Given the description of an element on the screen output the (x, y) to click on. 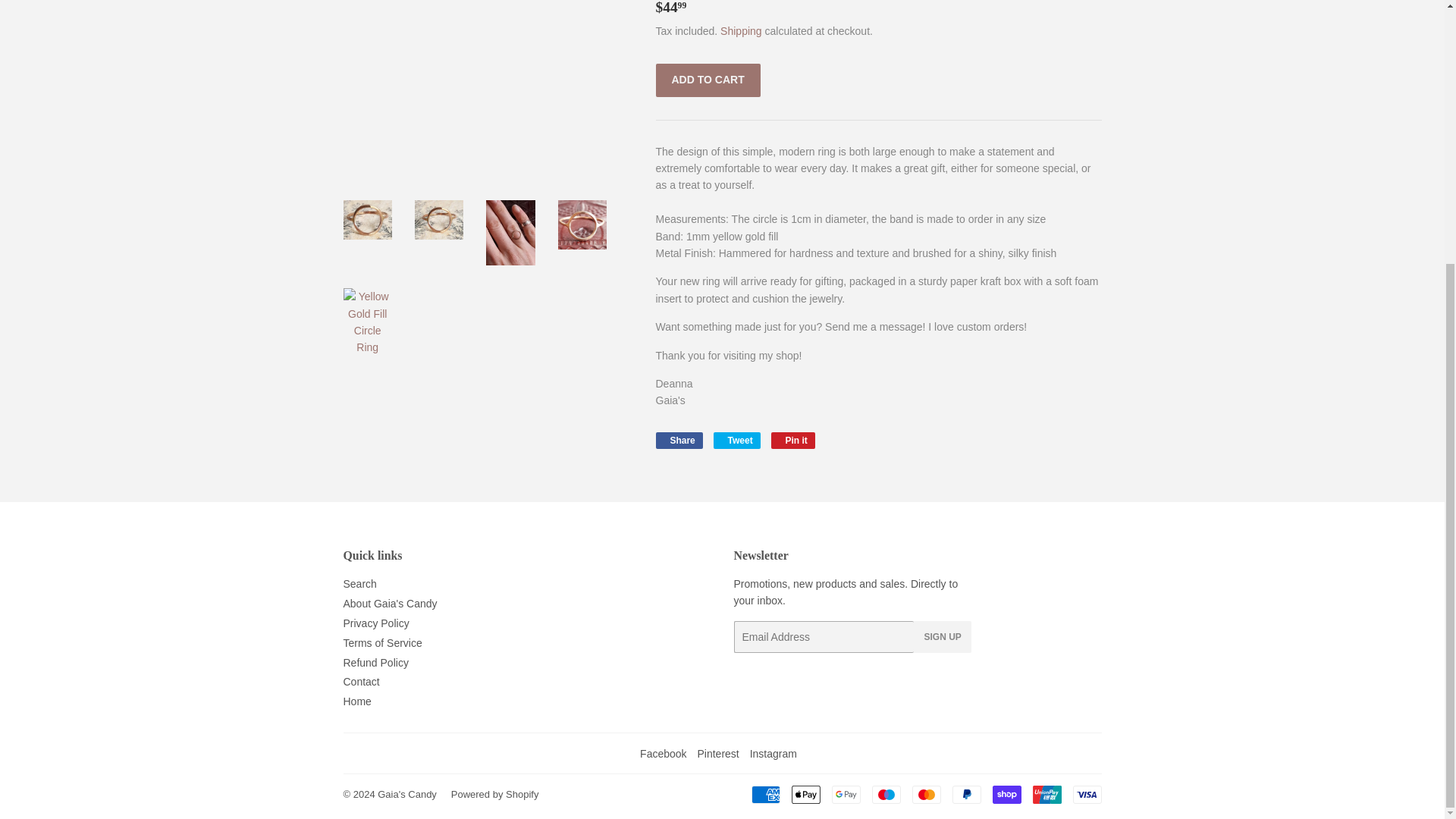
American Express (764, 794)
Shop Pay (1005, 794)
Shipping (740, 30)
PayPal (736, 440)
Google Pay (678, 440)
Pin on Pinterest (966, 794)
Maestro (845, 794)
